Given the description of an element on the screen output the (x, y) to click on. 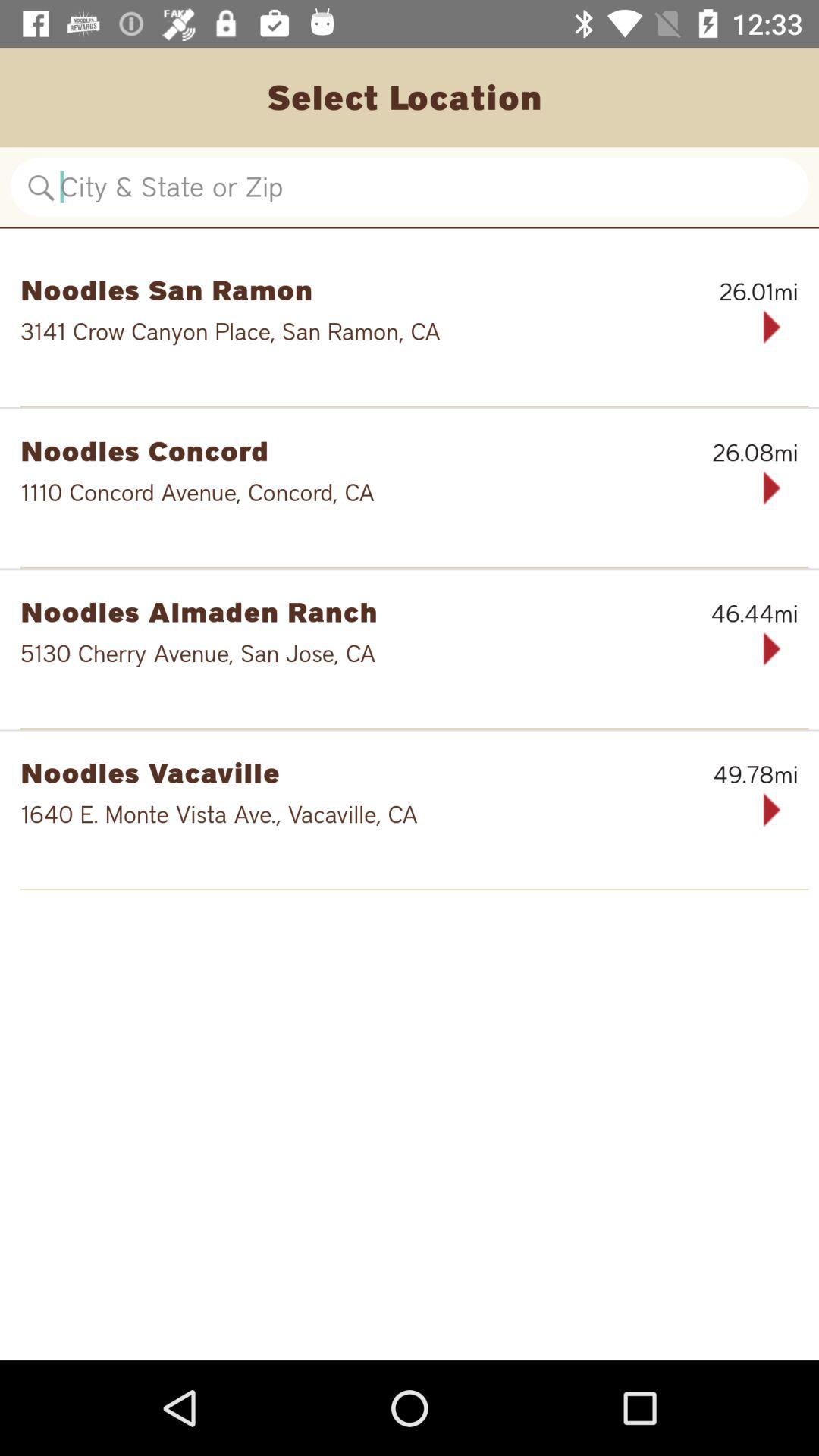
open noodles vacaville  icon (331, 772)
